Given the description of an element on the screen output the (x, y) to click on. 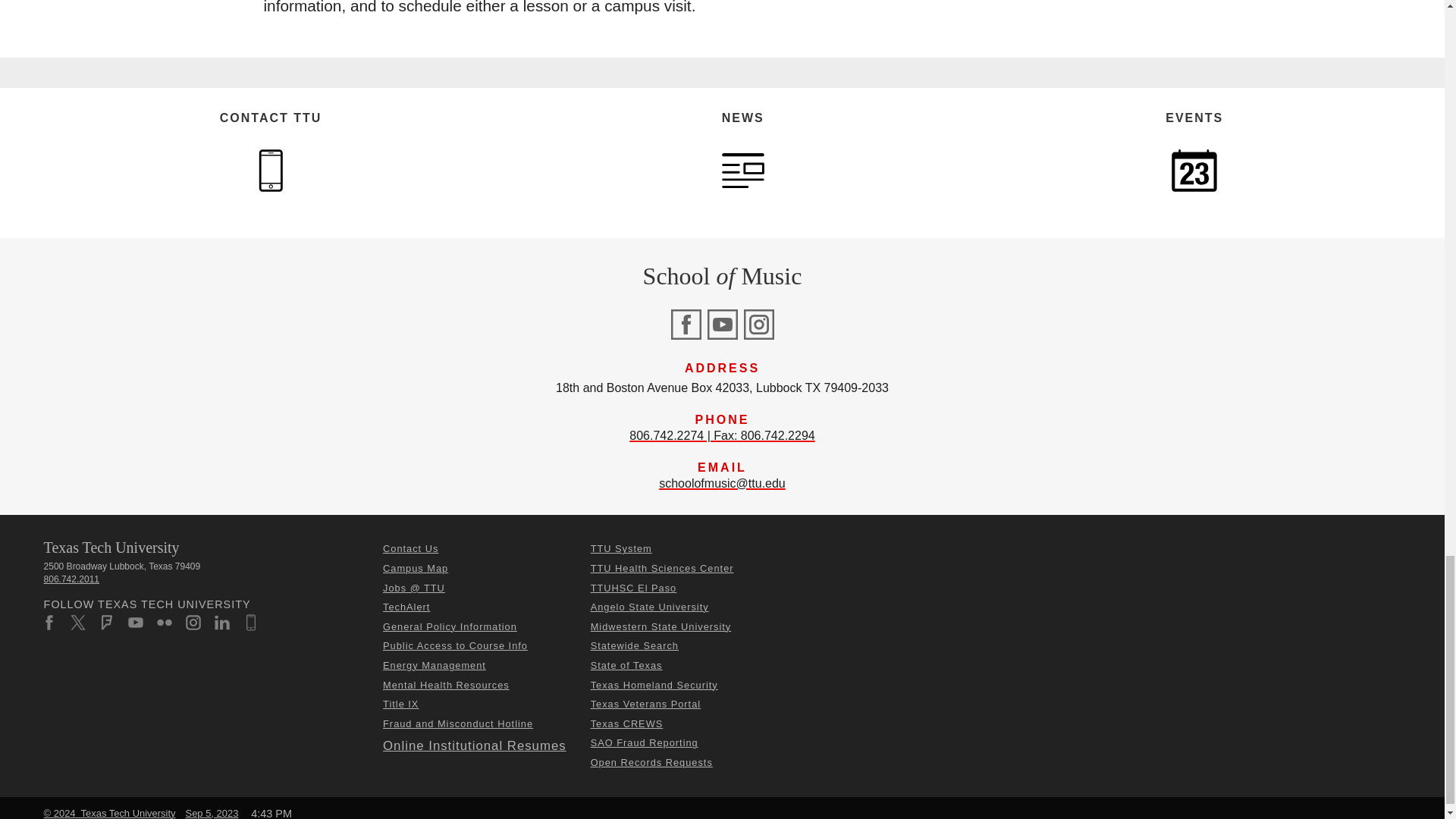
CONTACT CONTACT TTUCONTACT CONTACT TTU (270, 170)
NEWS FOR NEWSNEWS FOR NEWS (743, 170)
EVENTSEVENTS (1193, 170)
